Given the description of an element on the screen output the (x, y) to click on. 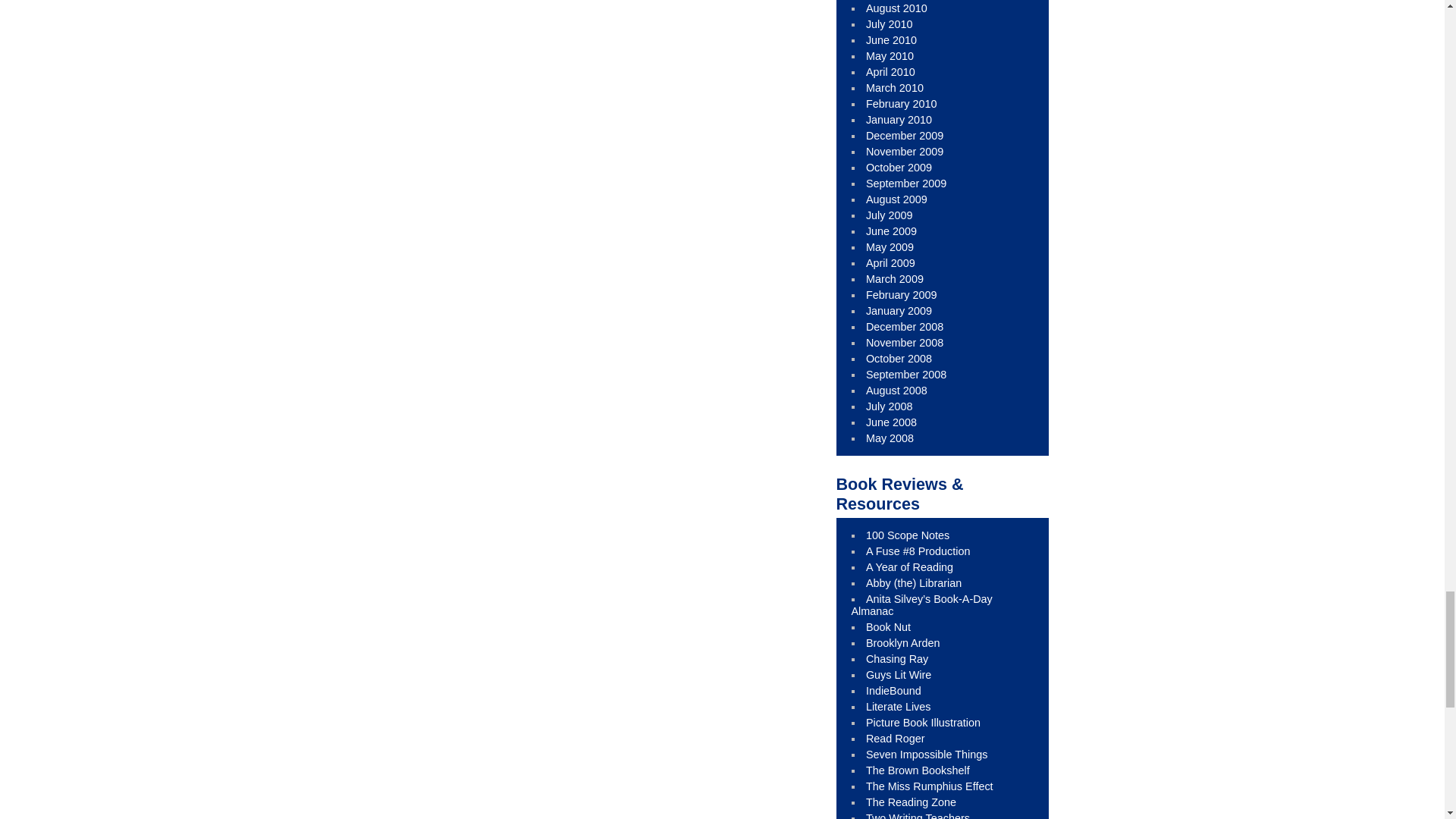
Book News and Recommendations (893, 690)
Blog by a Lively, Outspoken, Entertaining NYC Librarian (918, 551)
Books, etc. (897, 658)
Cheryl Klein: Reader, Editor (903, 643)
Two Teacher Who Read. A Lot. (909, 567)
Quick. Lively. Beautiful. Artistic. Fun. (922, 722)
